Given the description of an element on the screen output the (x, y) to click on. 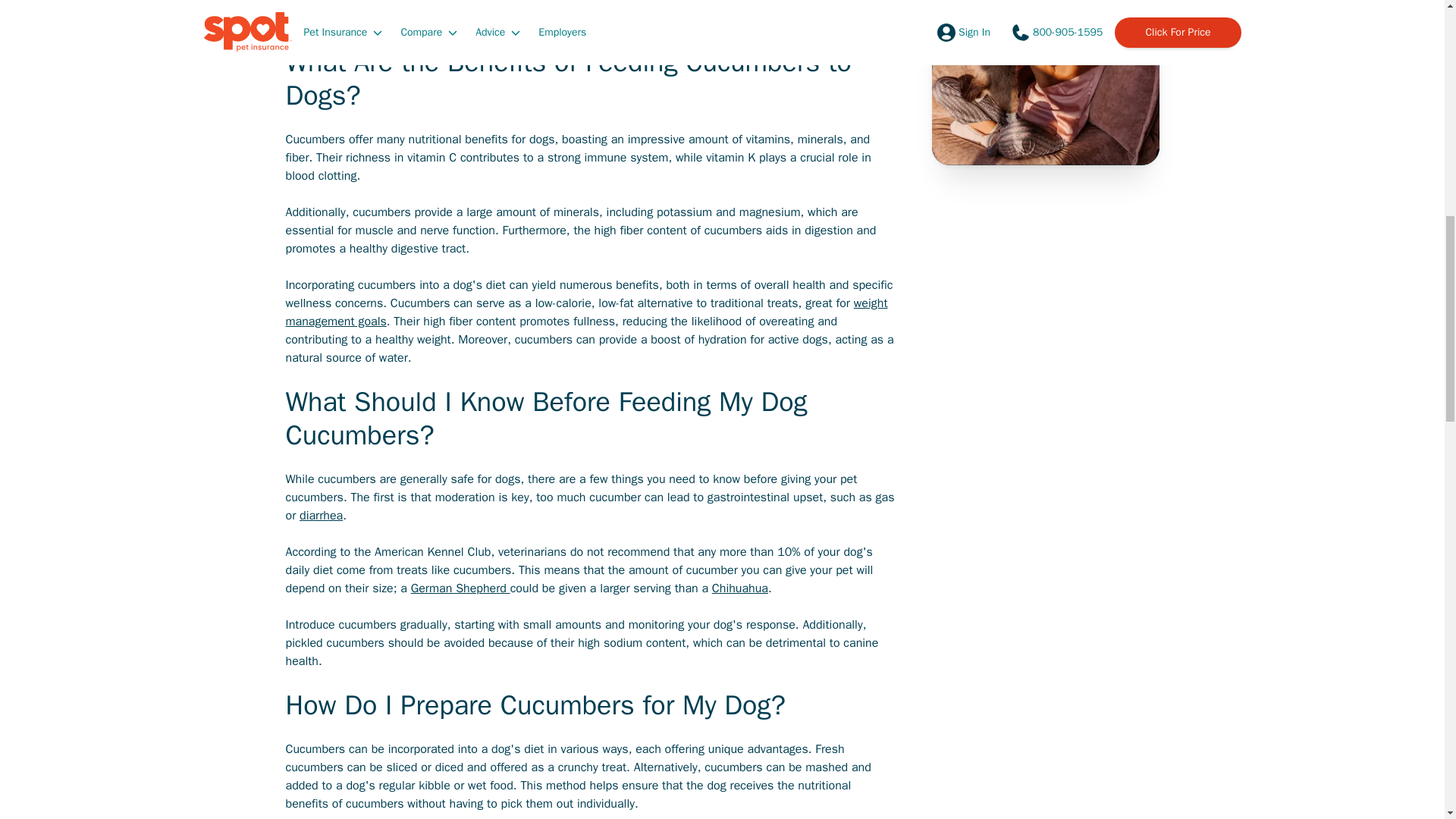
Chihuahua (739, 588)
weight management goals (585, 312)
German Shepherd (460, 588)
diarrhea (320, 515)
